Given the description of an element on the screen output the (x, y) to click on. 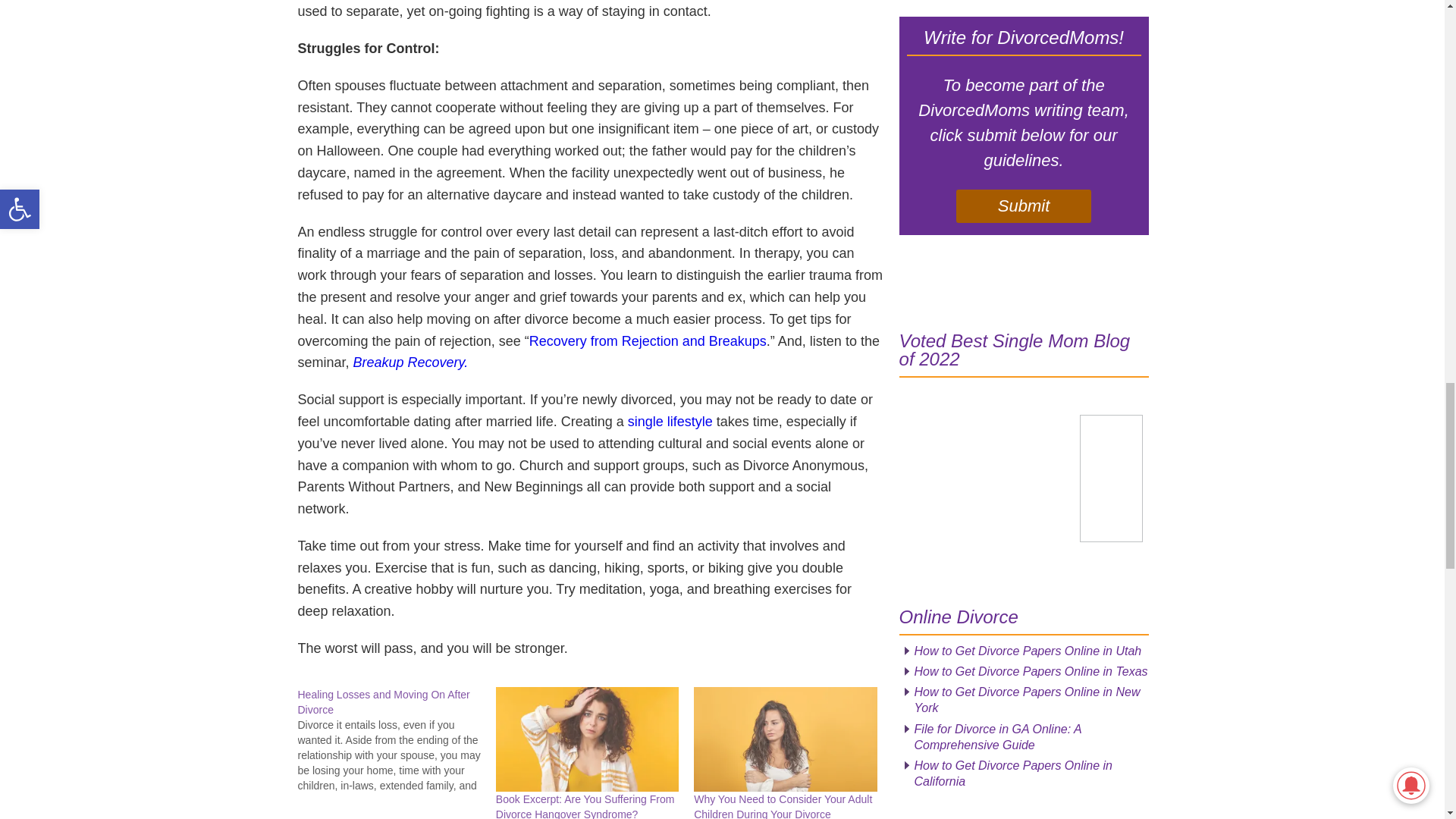
Healing Losses and Moving On After Divorce (382, 701)
Healing Losses and Moving On After Divorce (396, 740)
